Given the description of an element on the screen output the (x, y) to click on. 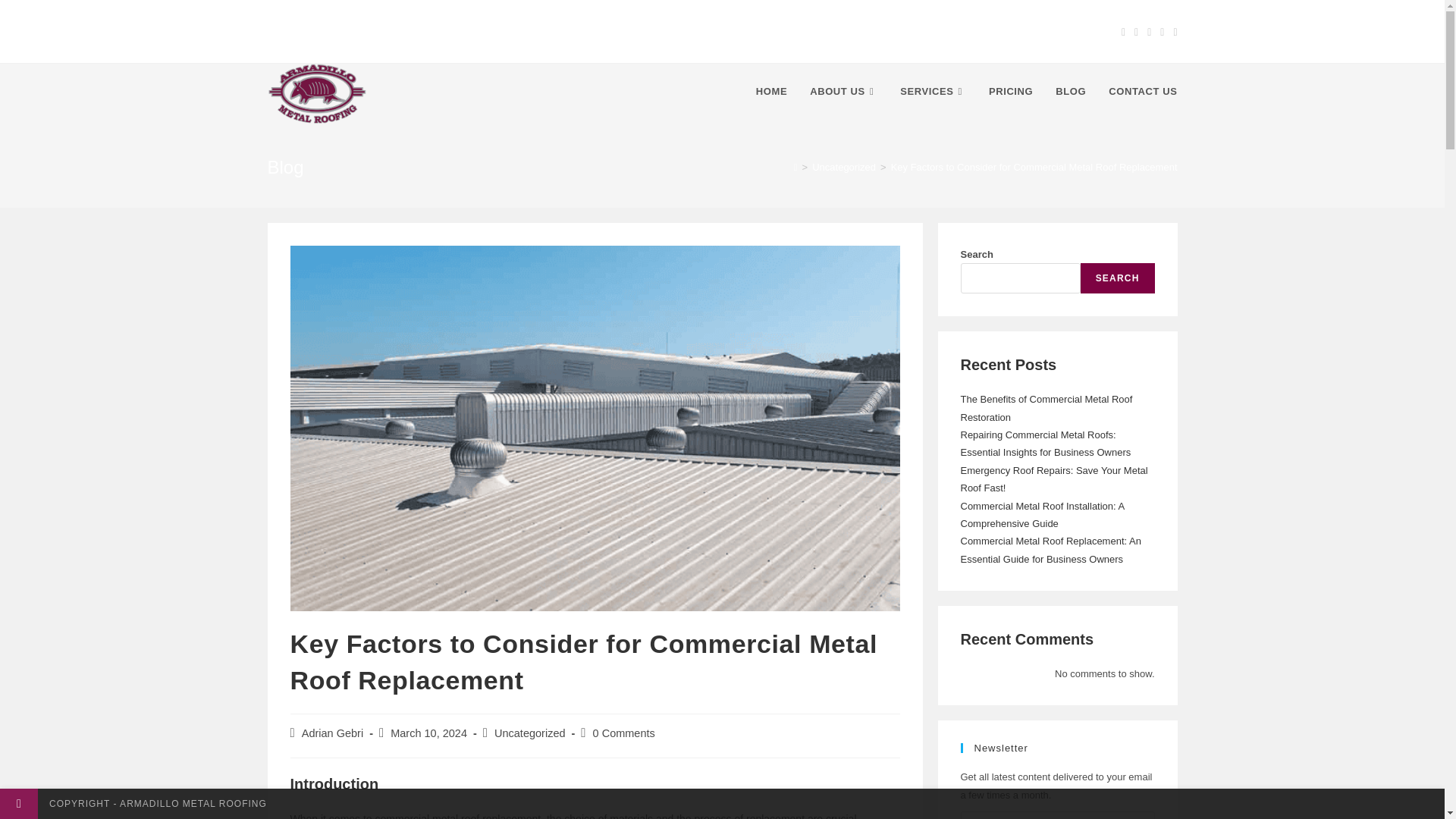
ABOUT US (842, 91)
Posts by Adrian Gebri (331, 733)
PRICING (1009, 91)
Uncategorized (844, 166)
HOME (770, 91)
Adrian Gebri (331, 733)
0 Comments (623, 733)
BLOG (1070, 91)
SERVICES (932, 91)
CONTACT US (1142, 91)
Uncategorized (530, 733)
